Given the description of an element on the screen output the (x, y) to click on. 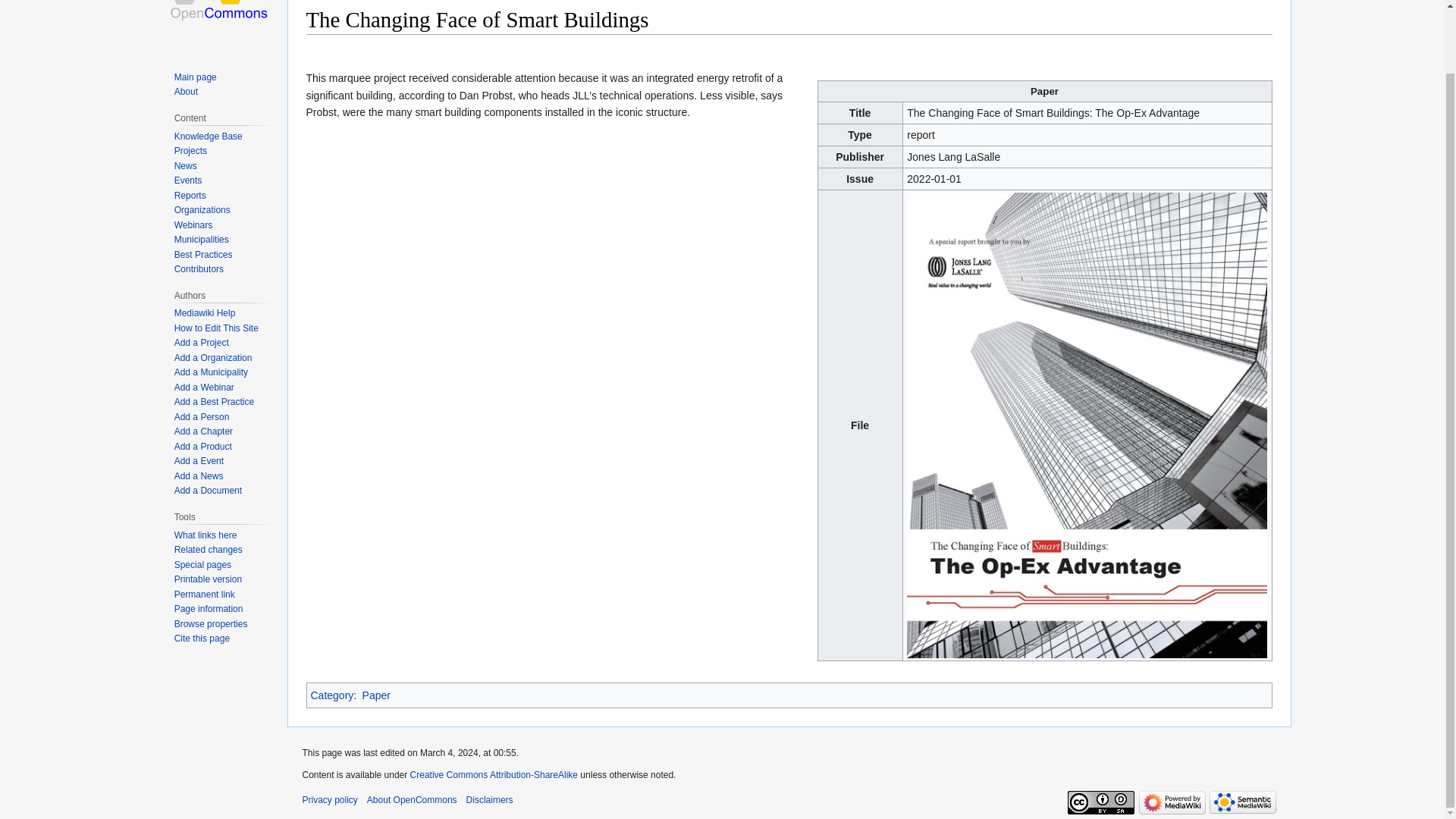
Knowledge Base (208, 136)
Add a Best Practice (213, 401)
How to Edit This Site (216, 327)
Paper (376, 695)
Special:Categories (332, 695)
Add a Organization (212, 357)
News (185, 165)
Reports (190, 195)
Mediawiki Help (204, 312)
About (186, 91)
Visit the main page (219, 25)
Best Practices (203, 254)
Add a Project (201, 342)
Events (188, 180)
